Given the description of an element on the screen output the (x, y) to click on. 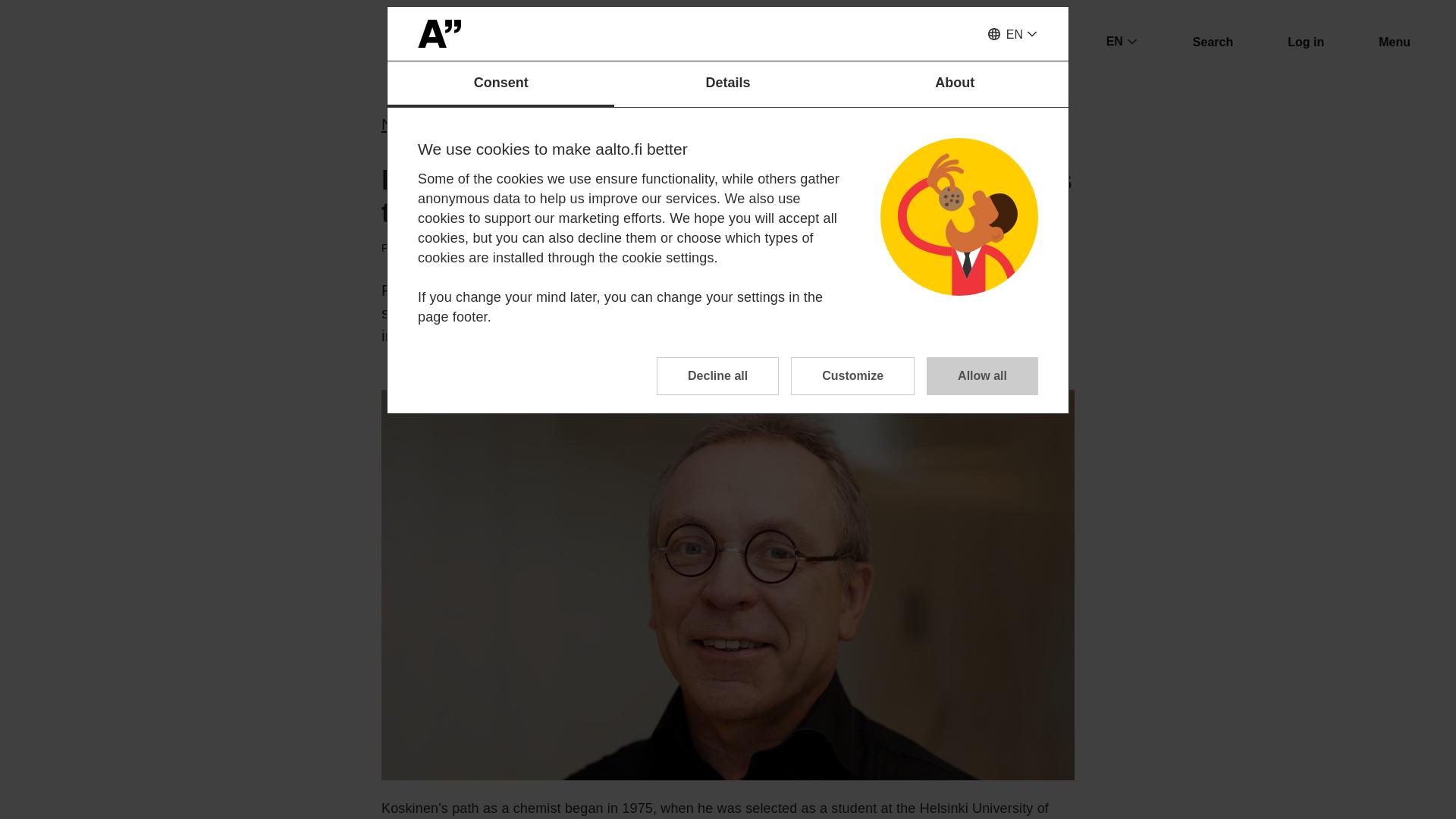
Details (727, 84)
EN (1011, 34)
Consent (500, 84)
About (954, 84)
